Given the description of an element on the screen output the (x, y) to click on. 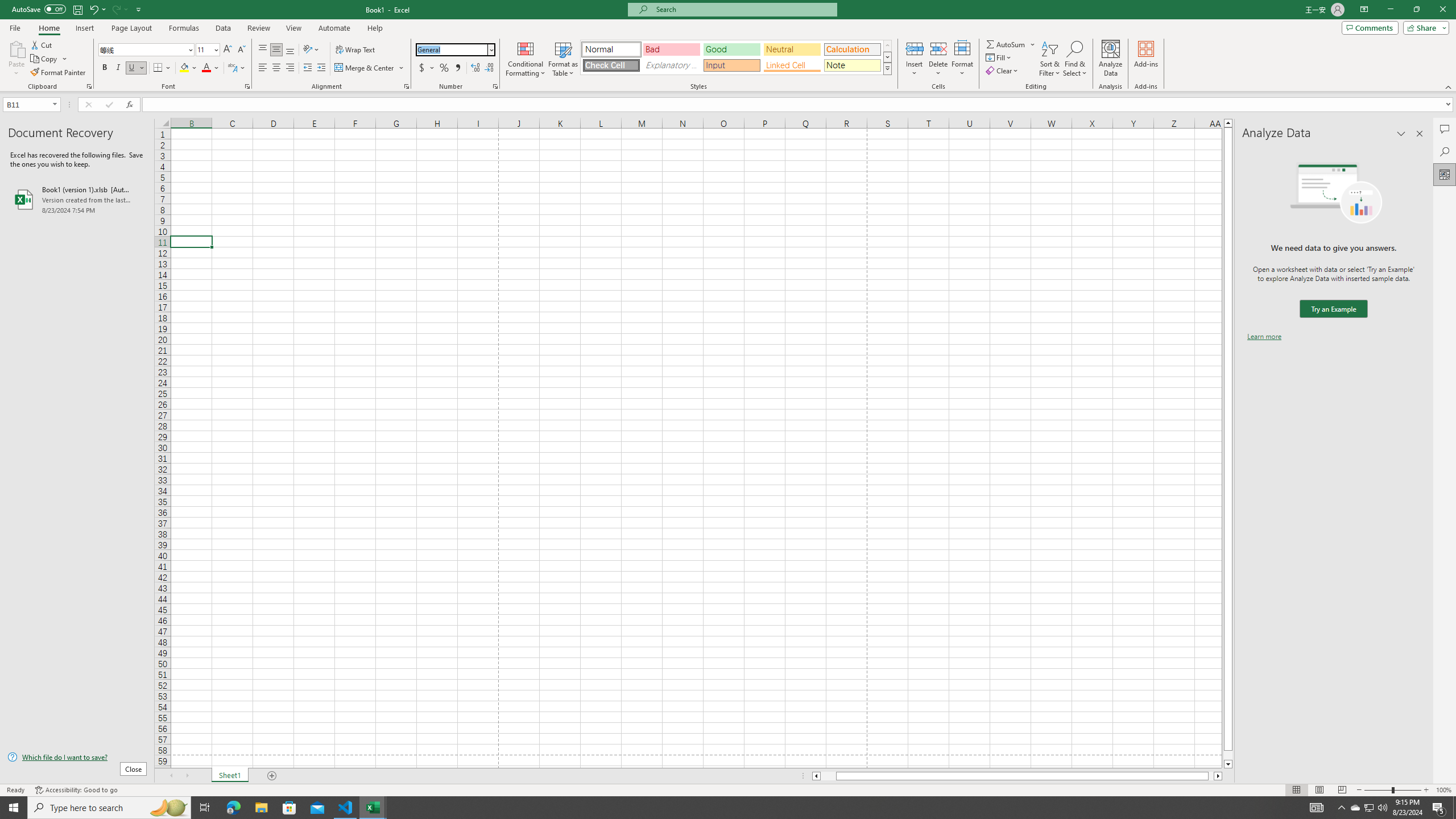
Font Size (207, 49)
Copy (49, 58)
Accounting Number Format (422, 67)
Increase Decimal (474, 67)
